Given the description of an element on the screen output the (x, y) to click on. 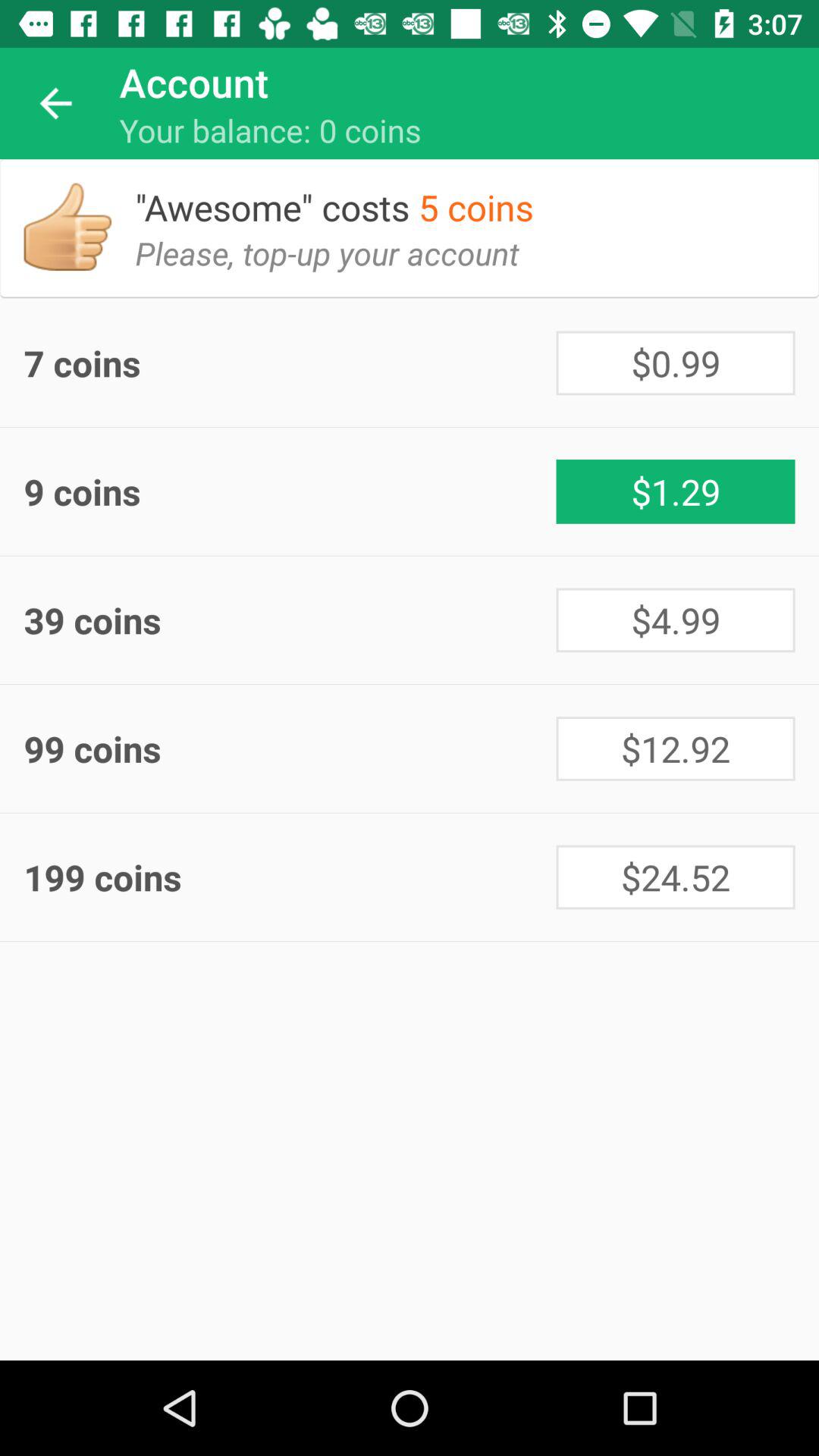
flip until 99 coins (289, 748)
